Given the description of an element on the screen output the (x, y) to click on. 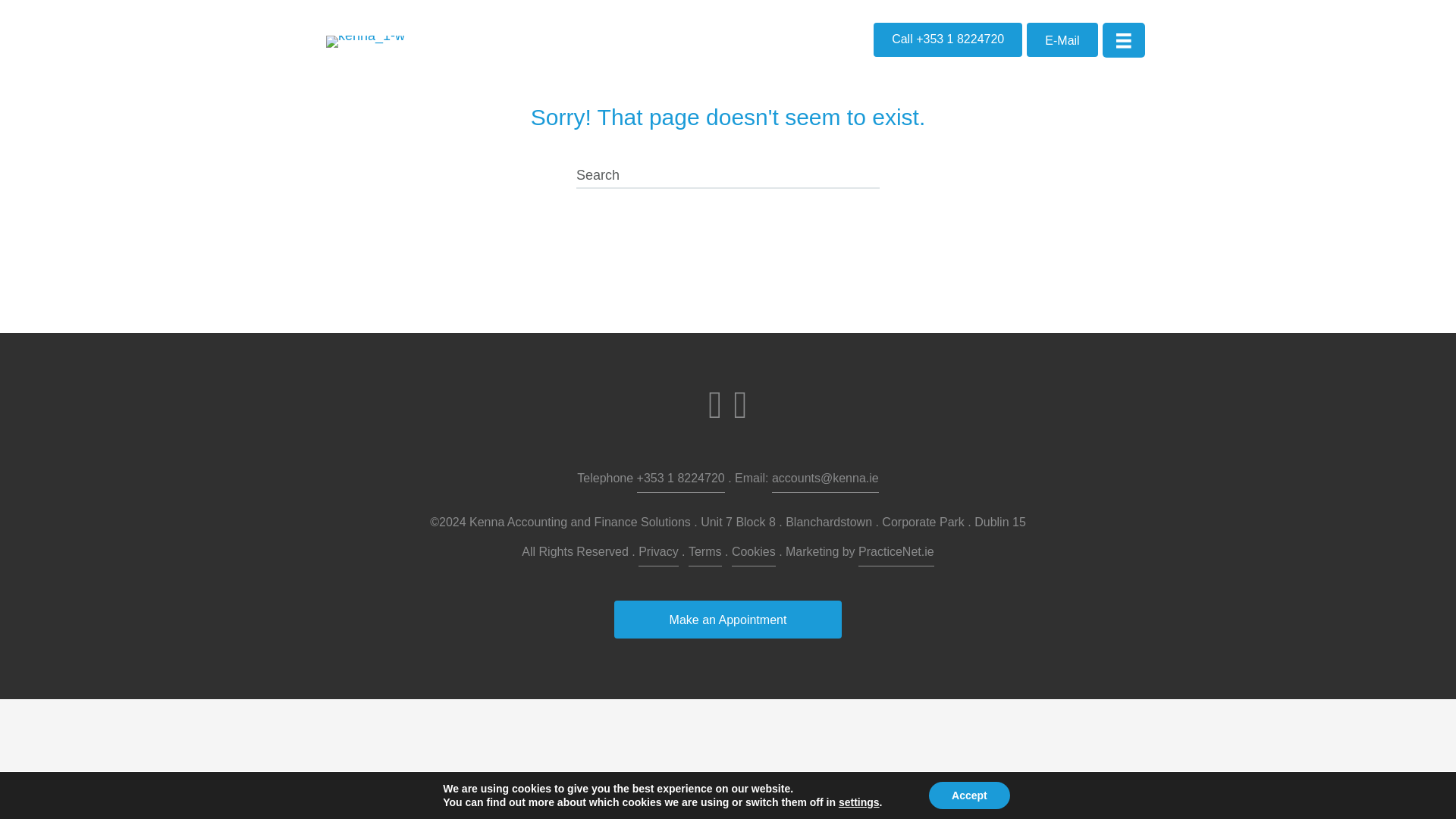
Search (727, 175)
Search (727, 175)
Type and press Enter to search. (727, 175)
PracticeNet.ie (896, 553)
E-Mail (1061, 39)
Privacy (658, 553)
Cookies (754, 553)
Make an Appointment (727, 619)
Terms (705, 553)
